Given the description of an element on the screen output the (x, y) to click on. 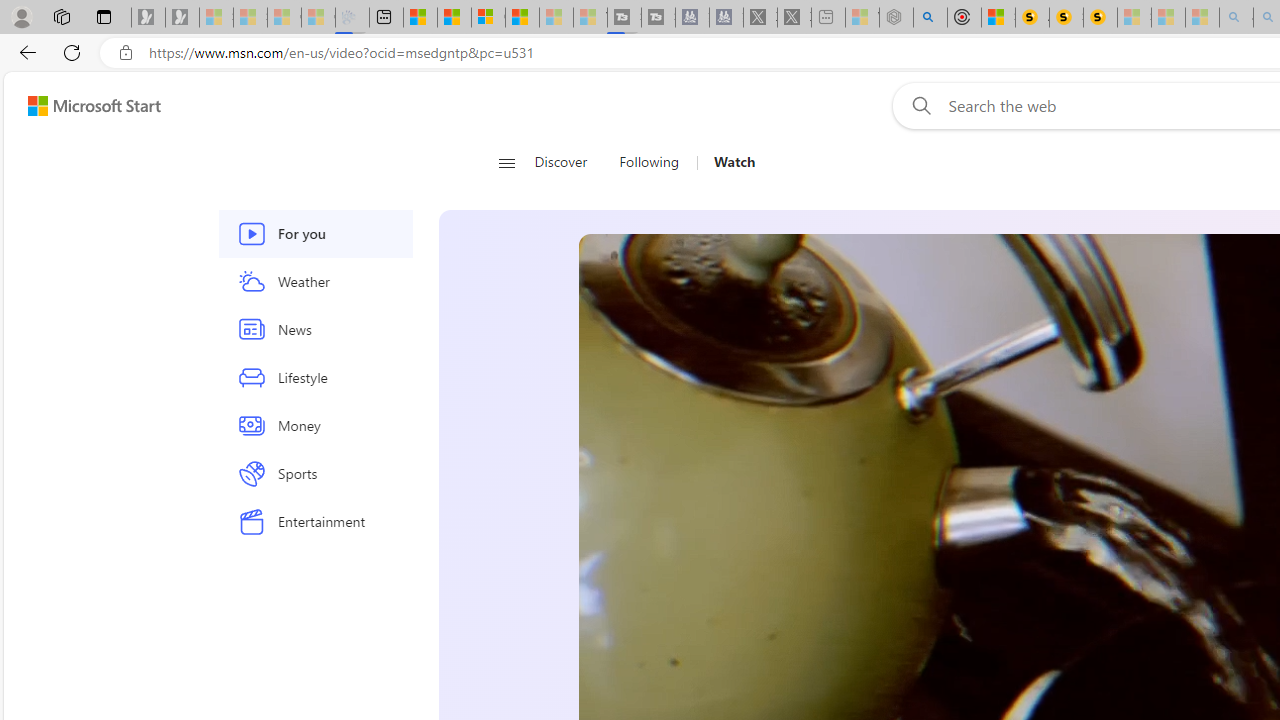
Wildlife - MSN - Sleeping (862, 17)
